Given the description of an element on the screen output the (x, y) to click on. 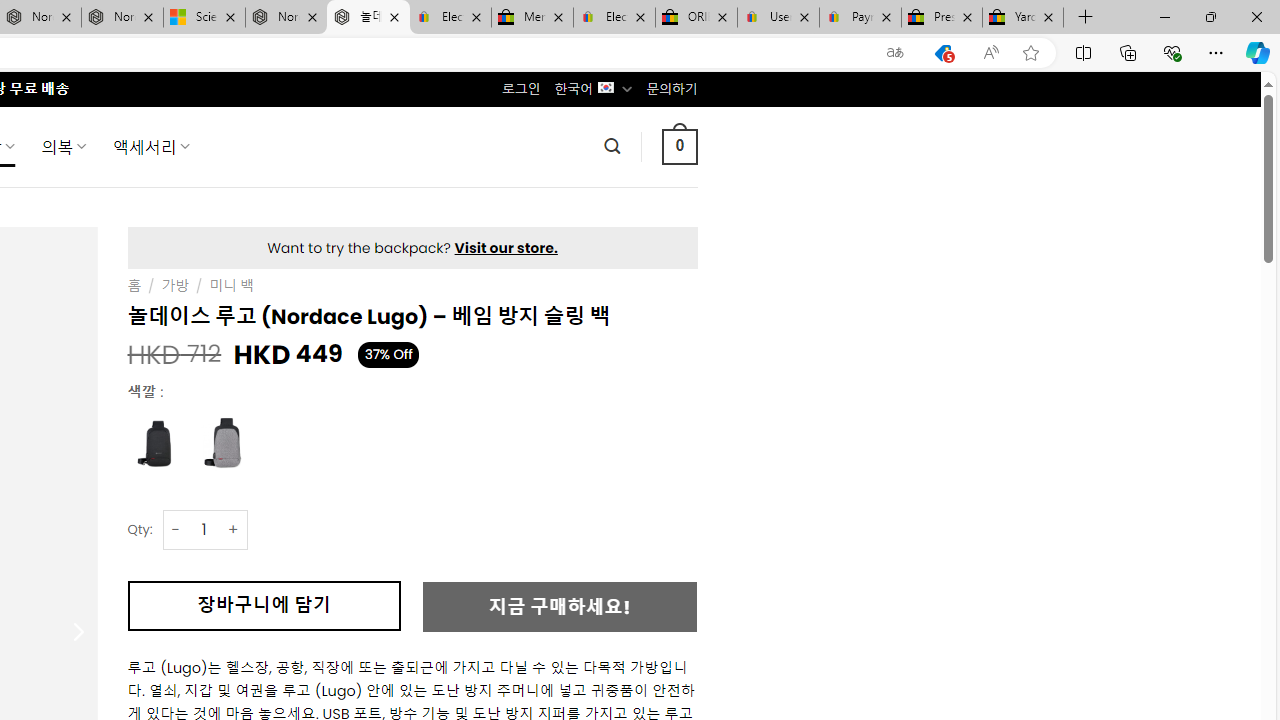
 0  (679, 146)
